Given the description of an element on the screen output the (x, y) to click on. 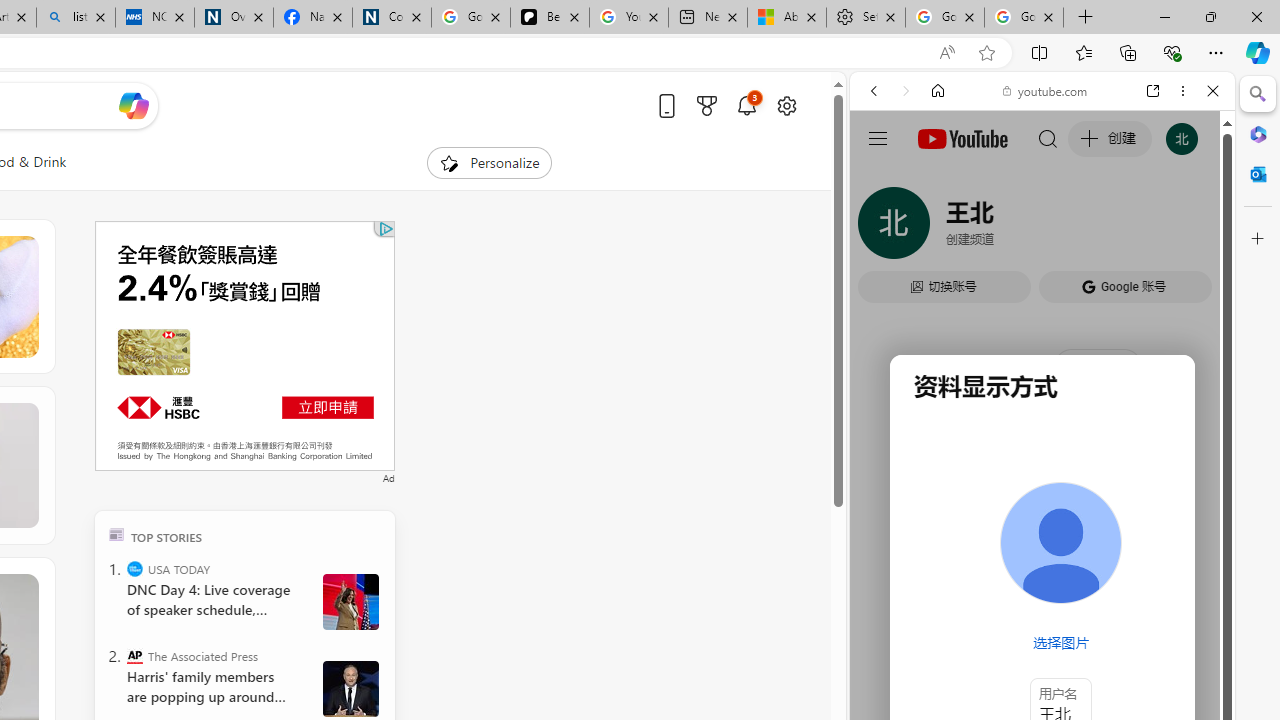
SEARCH TOOLS (1093, 228)
Google (1042, 494)
Music (1042, 543)
Global web icon (888, 288)
Home (938, 91)
#you (1042, 445)
Search Filter, WEB (882, 228)
Search Filter, IMAGES (939, 228)
Trailer #2 [HD] (1042, 594)
NCL Adult Asthma Inhaler Choice Guideline (155, 17)
AutomationID: canvas (244, 345)
